Given the description of an element on the screen output the (x, y) to click on. 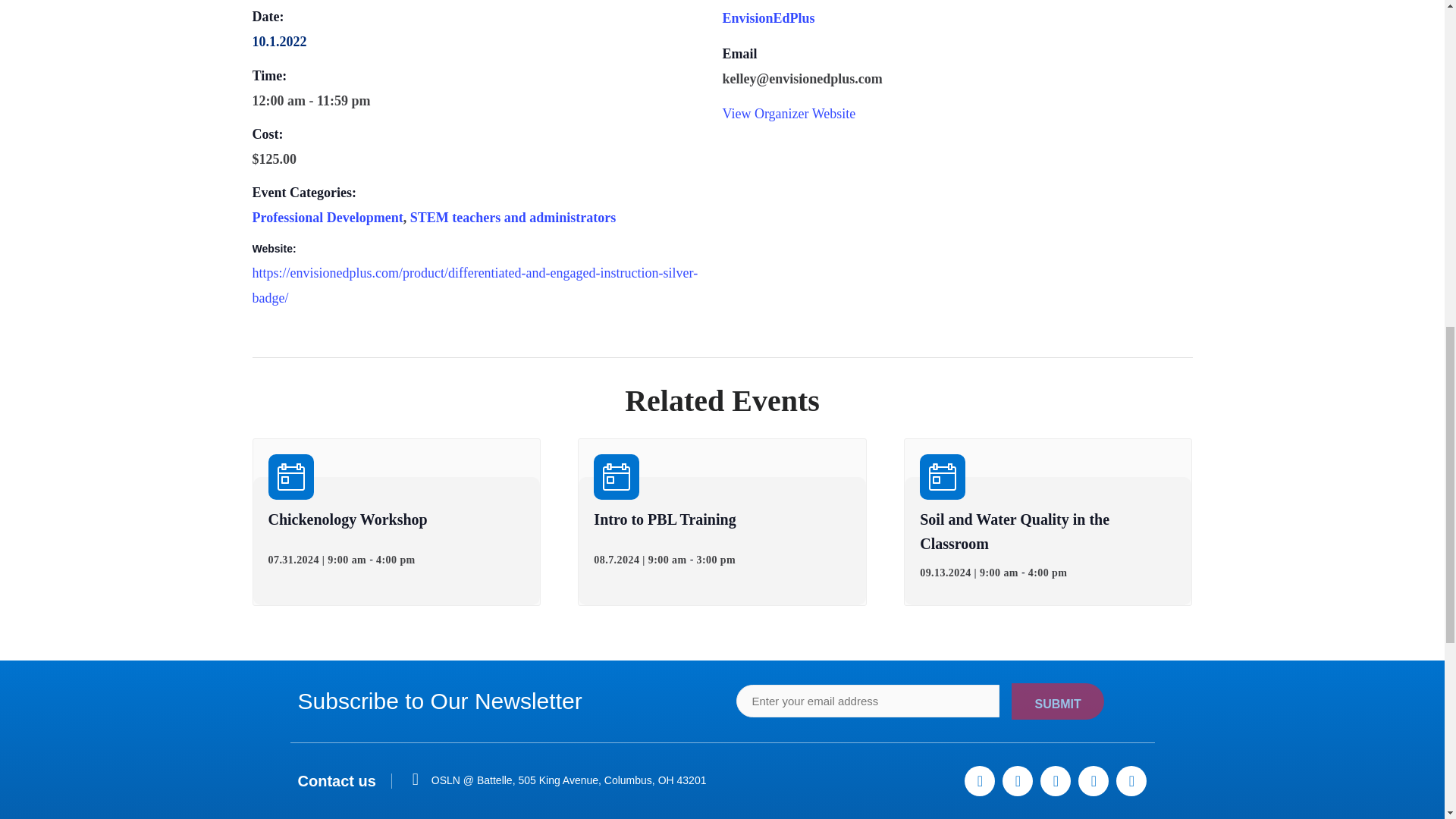
Submit (1057, 701)
2022-10-01 (477, 100)
2022-10-01 (278, 41)
EnvisionEdPlus (767, 17)
